Given the description of an element on the screen output the (x, y) to click on. 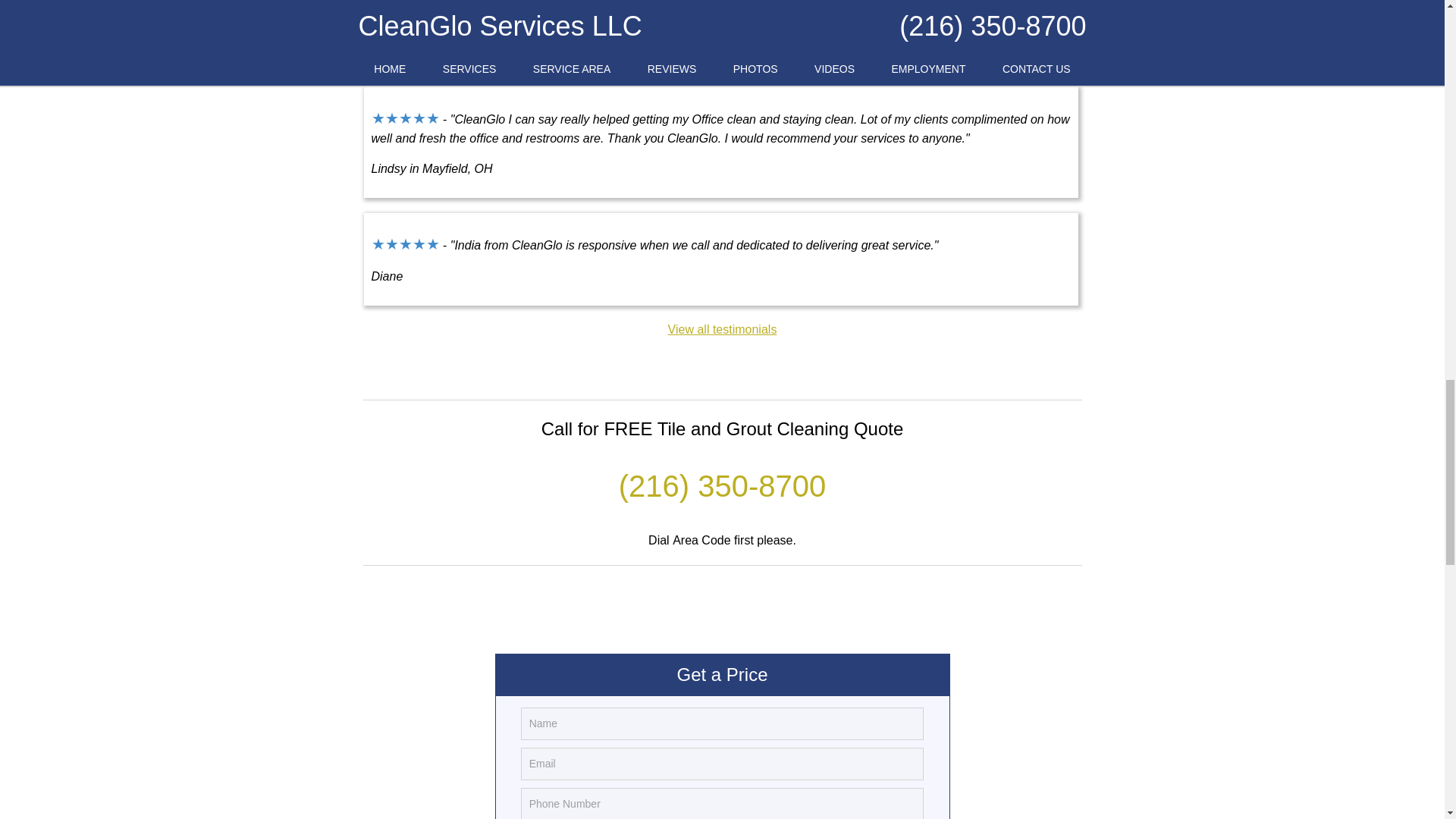
View all testimonials (722, 328)
